Given the description of an element on the screen output the (x, y) to click on. 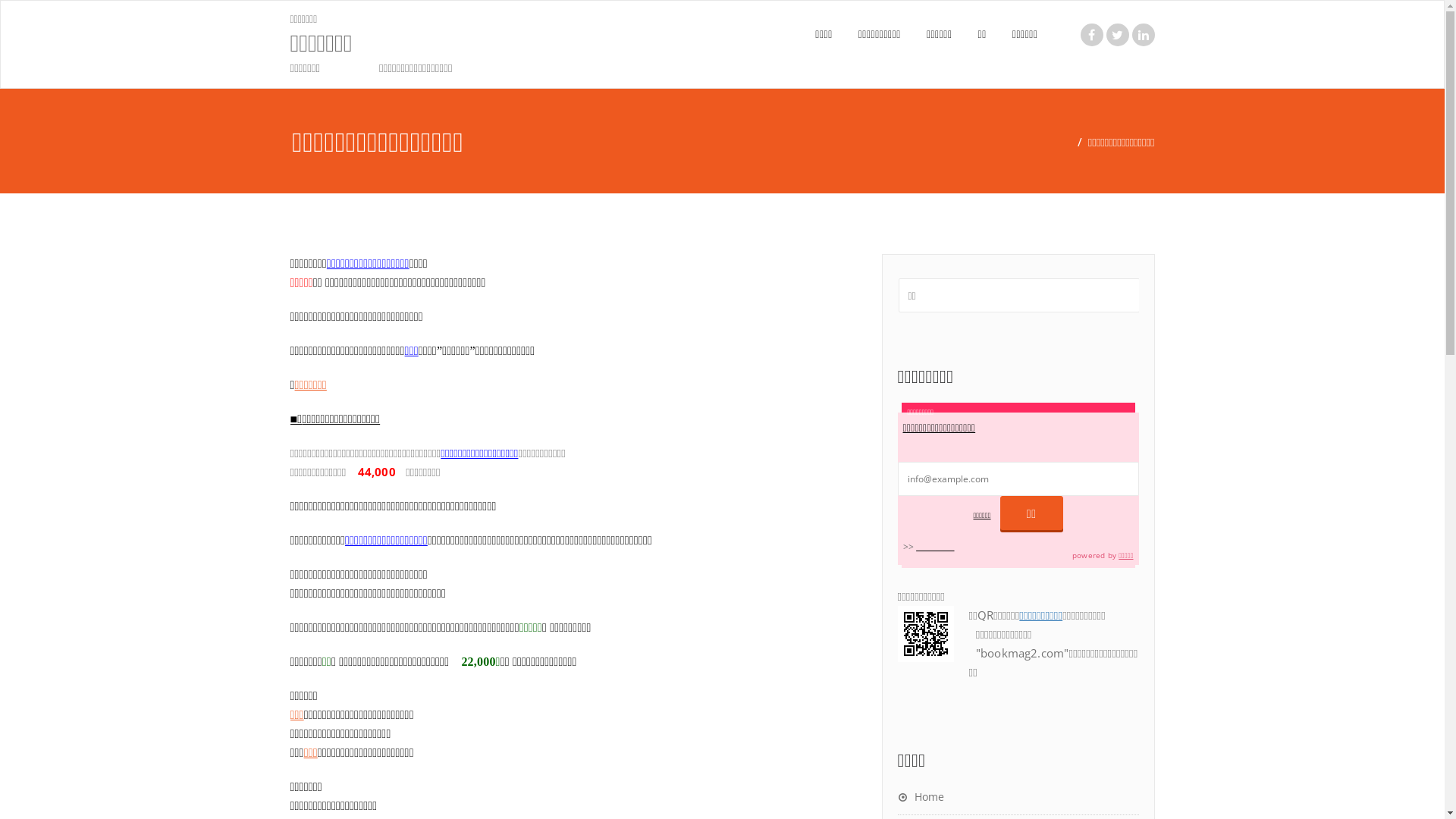
Home Element type: text (920, 796)
